Given the description of an element on the screen output the (x, y) to click on. 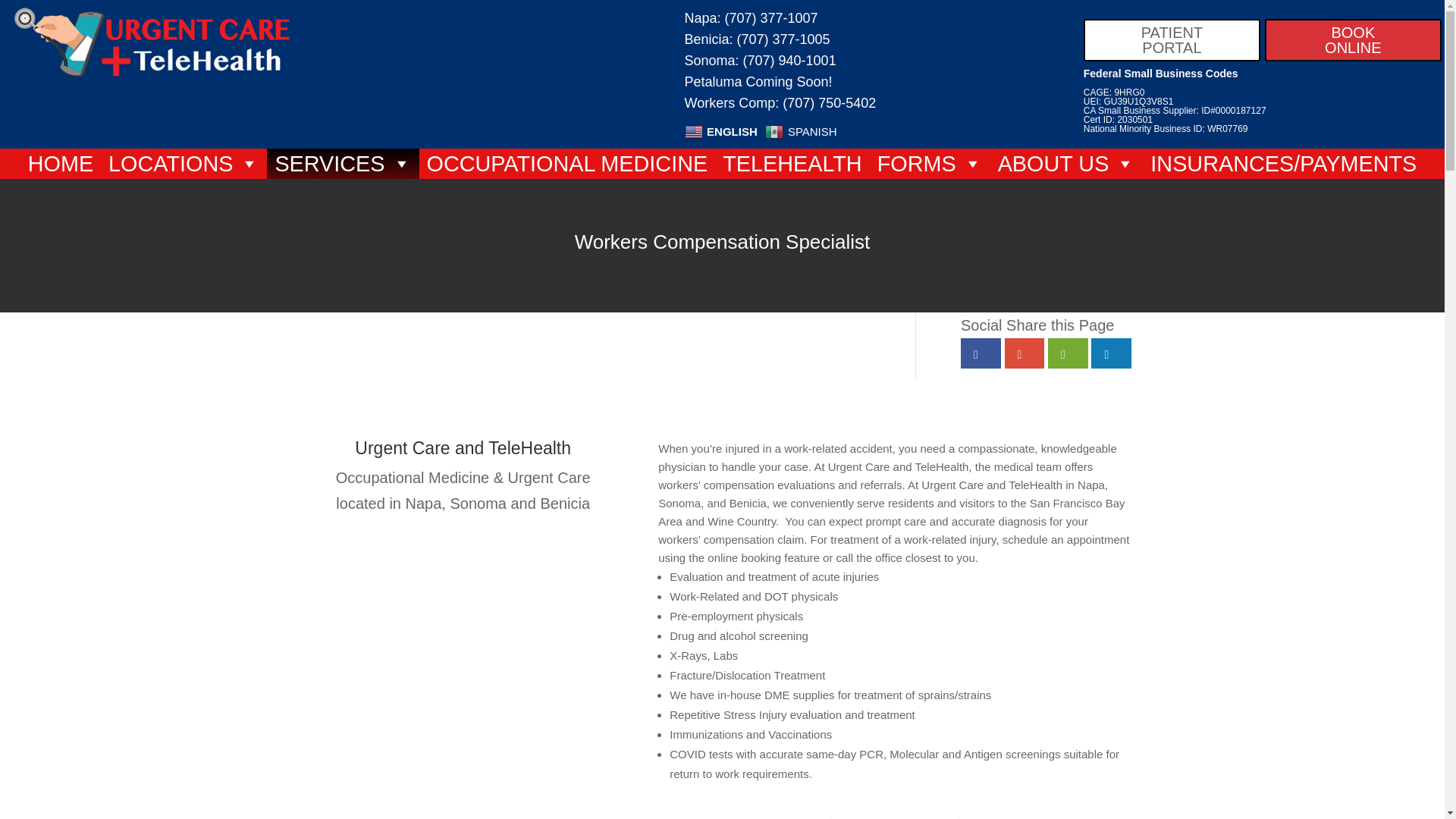
ucth-logo-white-400px (151, 42)
